Given the description of an element on the screen output the (x, y) to click on. 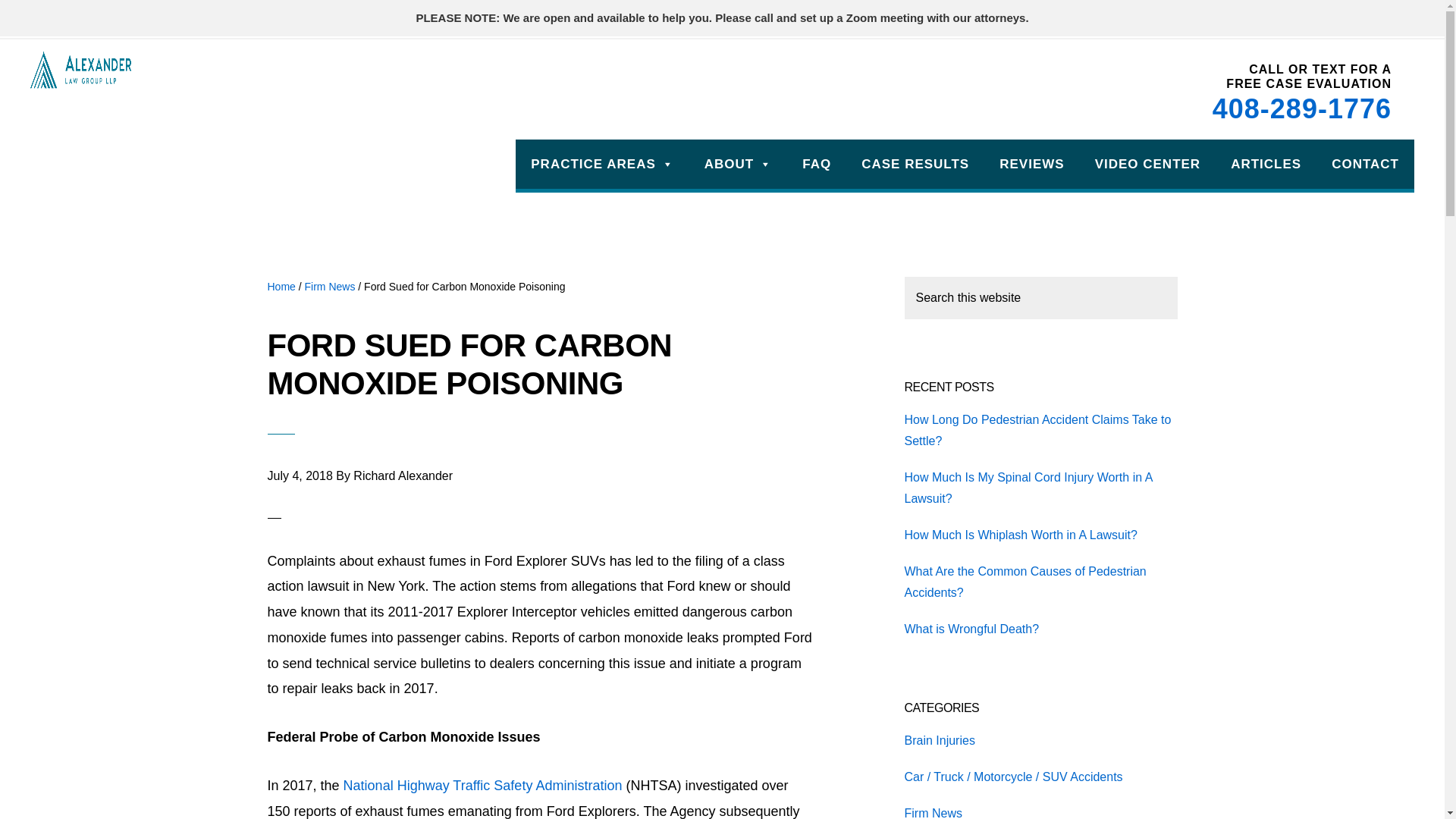
VIDEO CENTER (1147, 164)
Richard Alexander (402, 475)
408-289-1776 (1301, 107)
ARTICLES (1265, 164)
CASE RESULTS (914, 164)
PRACTICE AREAS (601, 164)
How Much Is Whiplash Worth in A Lawsuit? (1020, 534)
How Much Is My Spinal Cord Injury Worth in A Lawsuit? (1027, 487)
FAQ (816, 164)
